Given the description of an element on the screen output the (x, y) to click on. 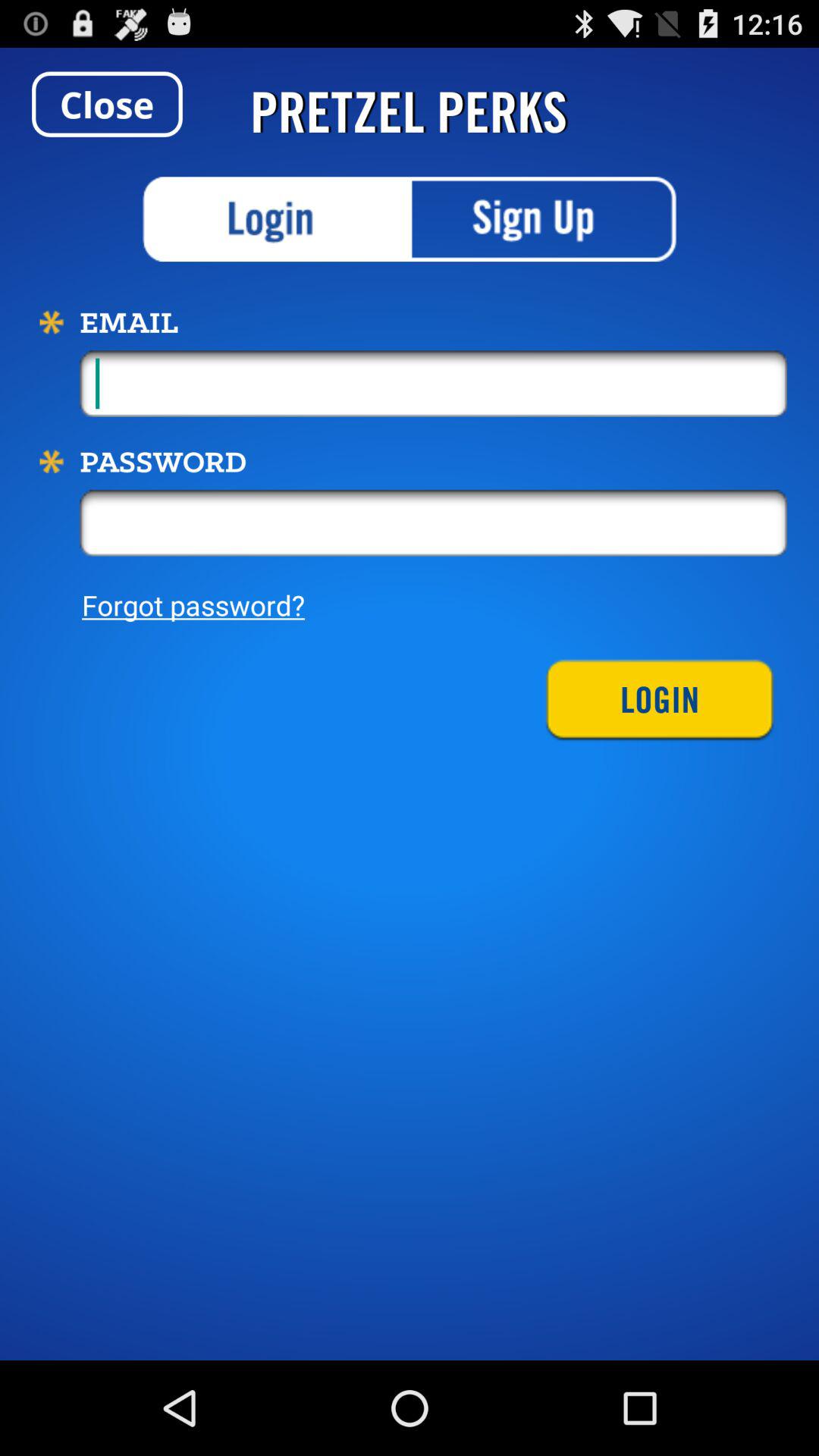
click to login (276, 218)
